Given the description of an element on the screen output the (x, y) to click on. 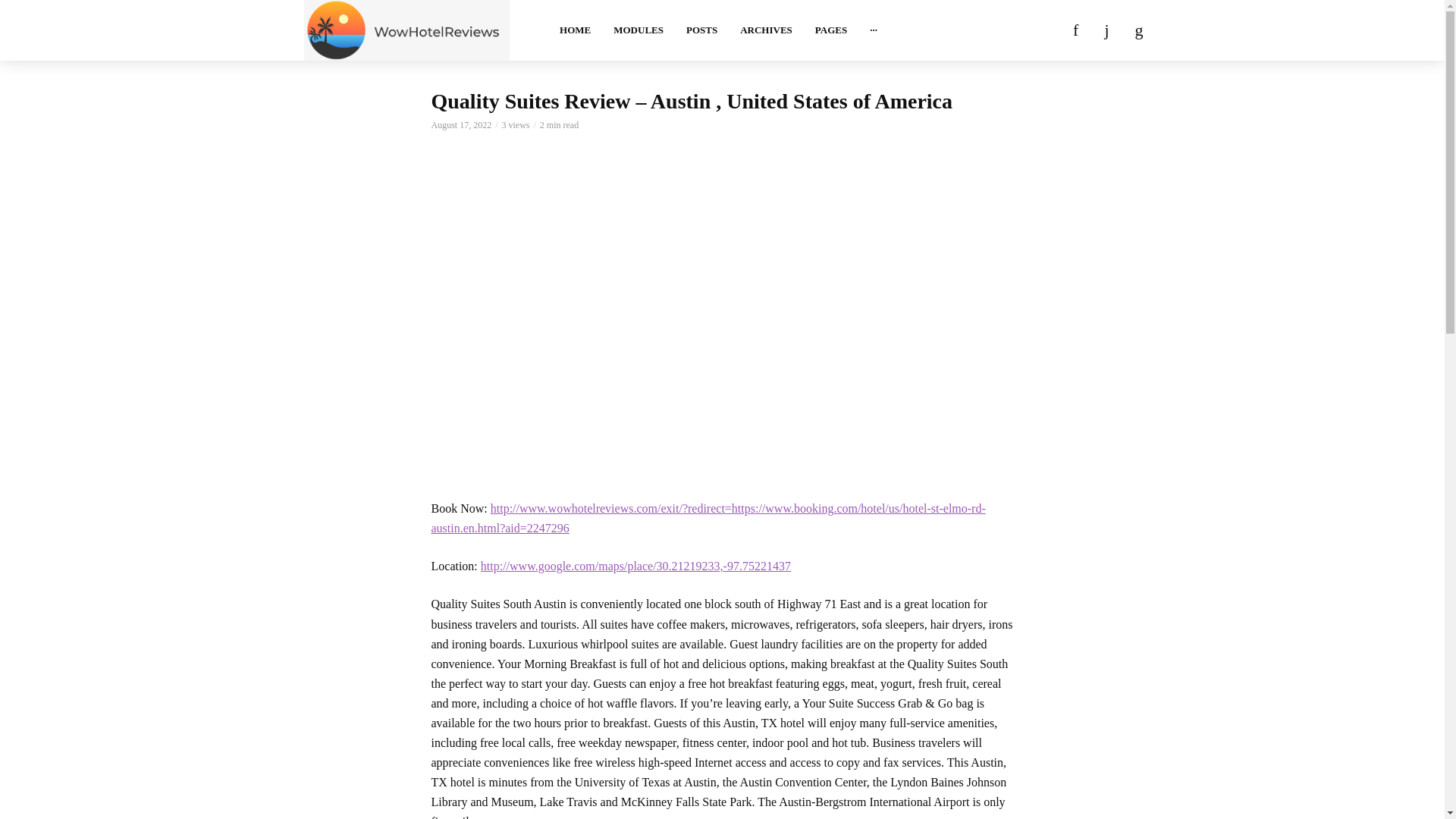
HOME (575, 30)
POSTS (702, 30)
PAGES (831, 30)
ARCHIVES (766, 30)
MODULES (638, 30)
